Given the description of an element on the screen output the (x, y) to click on. 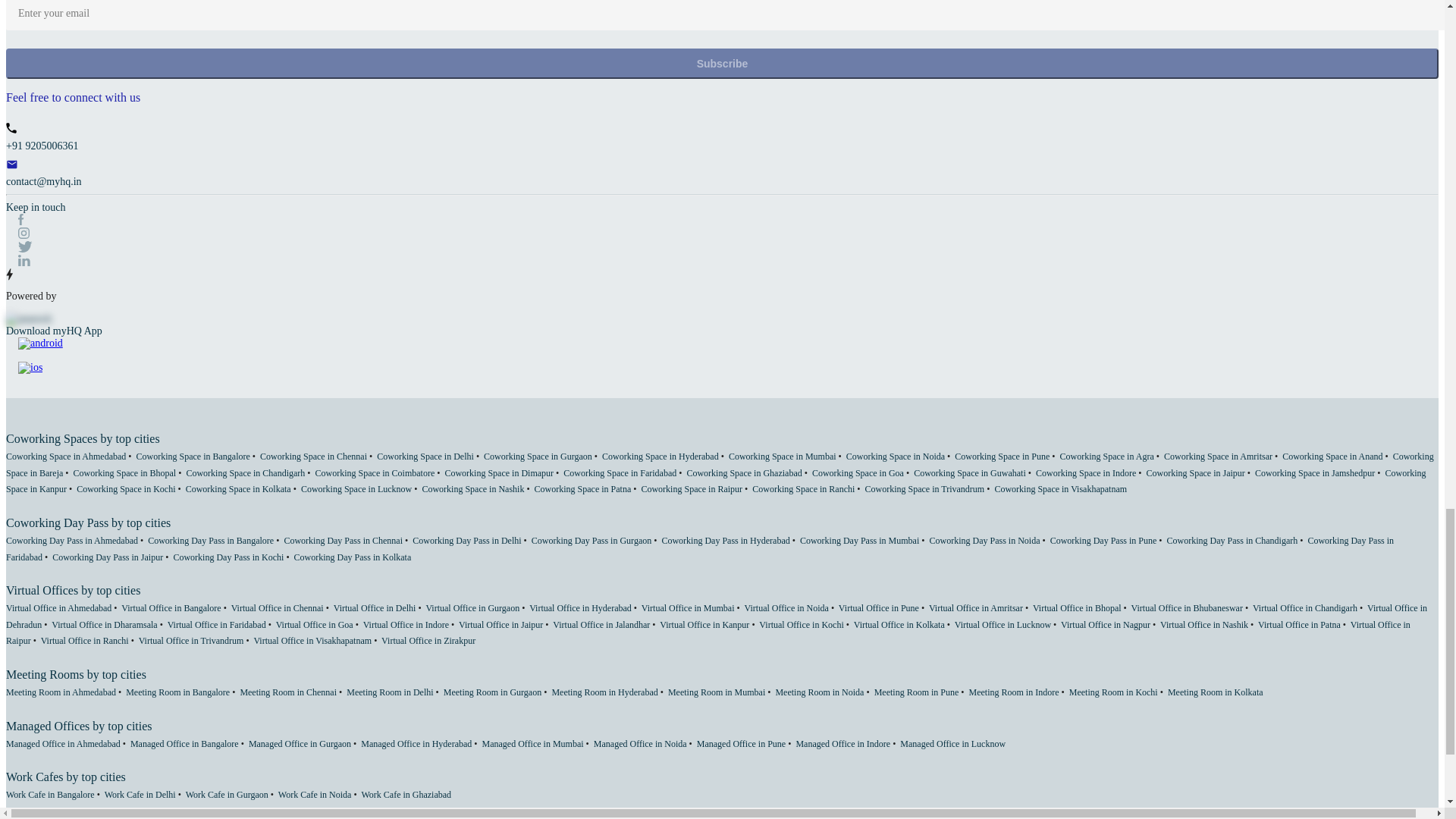
Subscribe (721, 63)
